Given the description of an element on the screen output the (x, y) to click on. 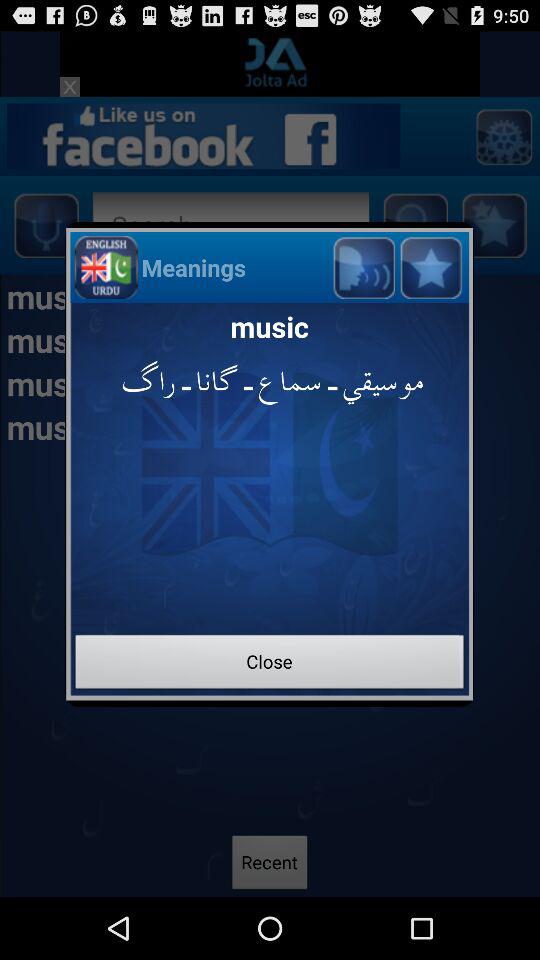
menu button (430, 266)
